Given the description of an element on the screen output the (x, y) to click on. 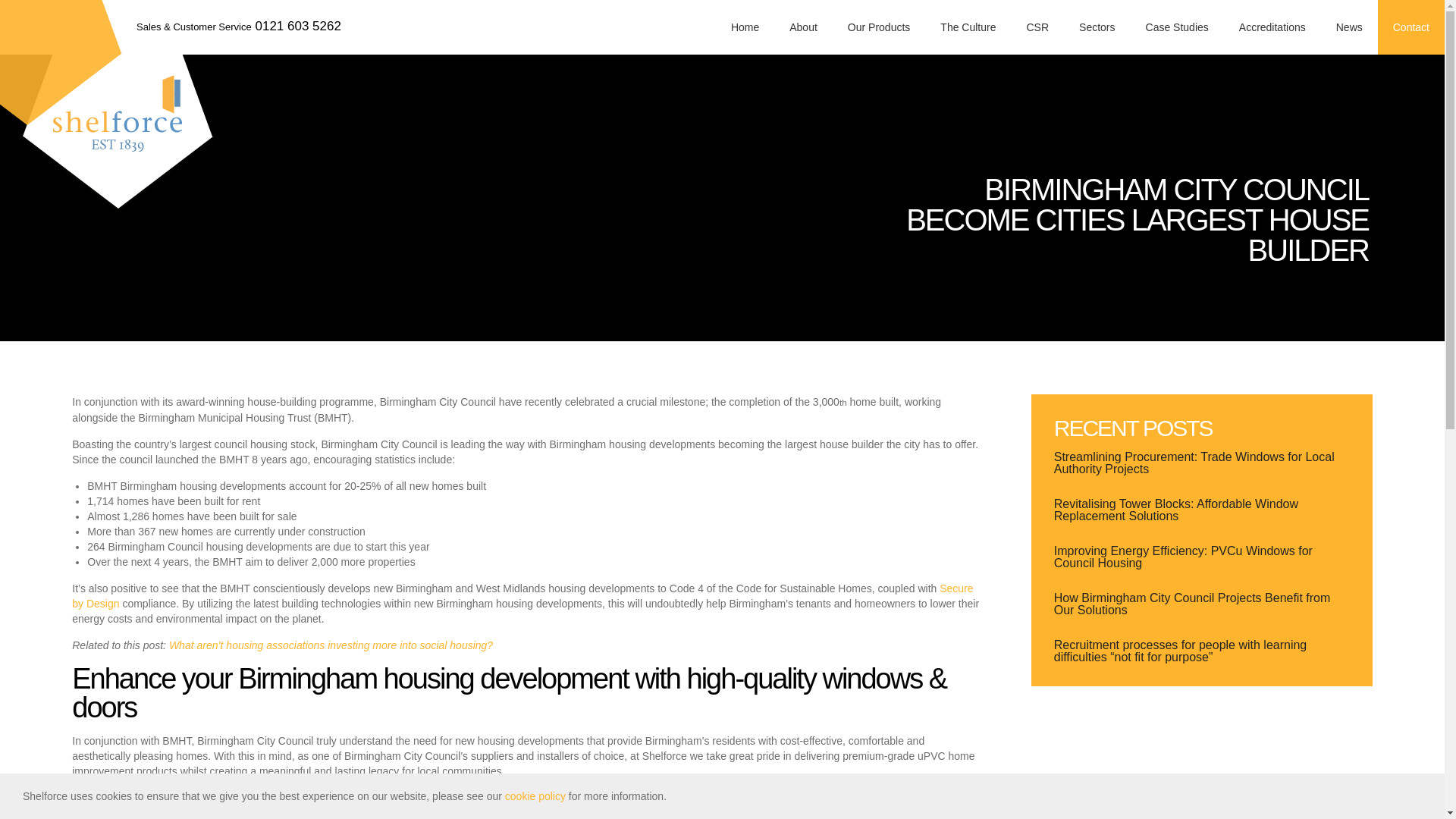
Case Studies (1177, 27)
About (803, 27)
View our cookie policy (535, 796)
Sectors (1096, 27)
CSR (1037, 27)
News (1348, 27)
Our Products (878, 27)
